Given the description of an element on the screen output the (x, y) to click on. 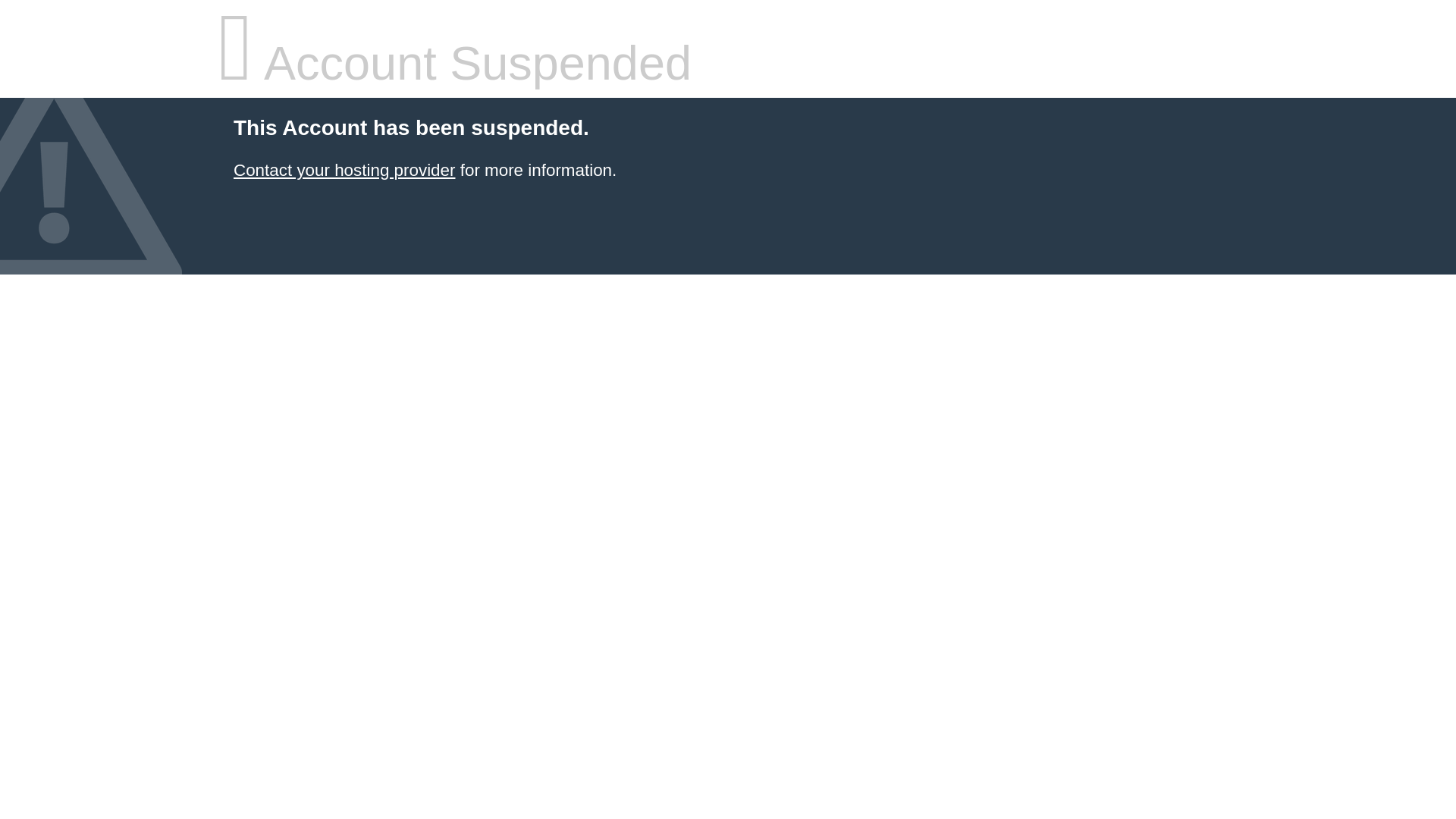
Contact your hosting provider (343, 169)
